Given the description of an element on the screen output the (x, y) to click on. 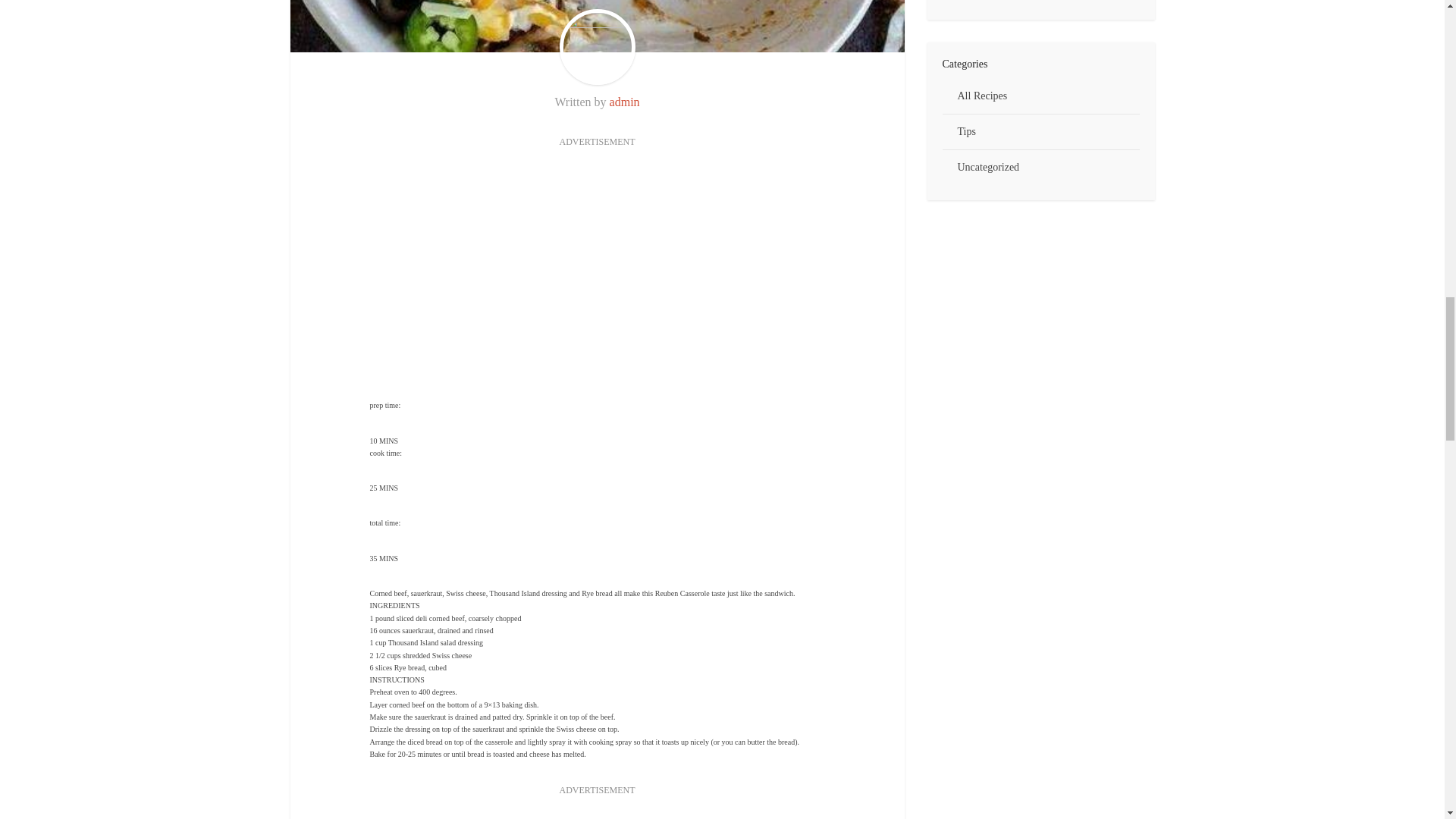
admin (625, 101)
